Given the description of an element on the screen output the (x, y) to click on. 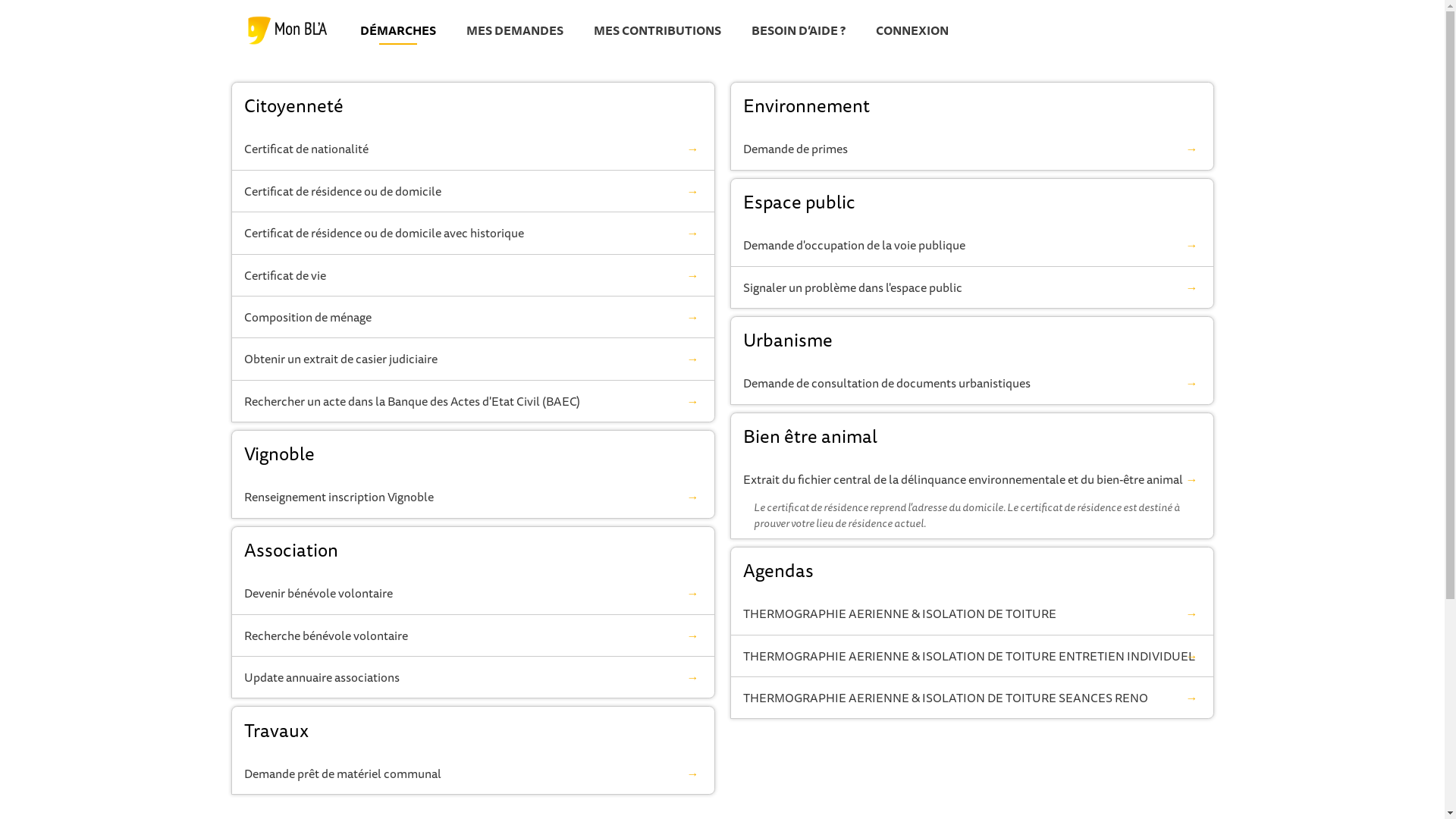
CONNEXION Element type: text (911, 32)
Demande de consultation de documents urbanistiques Element type: text (972, 382)
THERMOGRAPHIE AERIENNE & ISOLATION DE TOITURE Element type: text (972, 613)
Demande d'occupation de la voie publique Element type: text (972, 244)
MES CONTRIBUTIONS Element type: text (656, 32)
MES DEMANDES Element type: text (513, 32)
Obtenir un extrait de casier judiciaire Element type: text (473, 358)
THERMOGRAPHIE AERIENNE & ISOLATION DE TOITURE SEANCES RENO Element type: text (972, 697)
Certificat de vie Element type: text (473, 274)
Demande de primes Element type: text (972, 148)
Renseignement inscription Vignoble Element type: text (473, 496)
Accueil - Braine-l'Alleud - Guichet en ligne Element type: hover (287, 30)
Update annuaire associations Element type: text (473, 676)
